Given the description of an element on the screen output the (x, y) to click on. 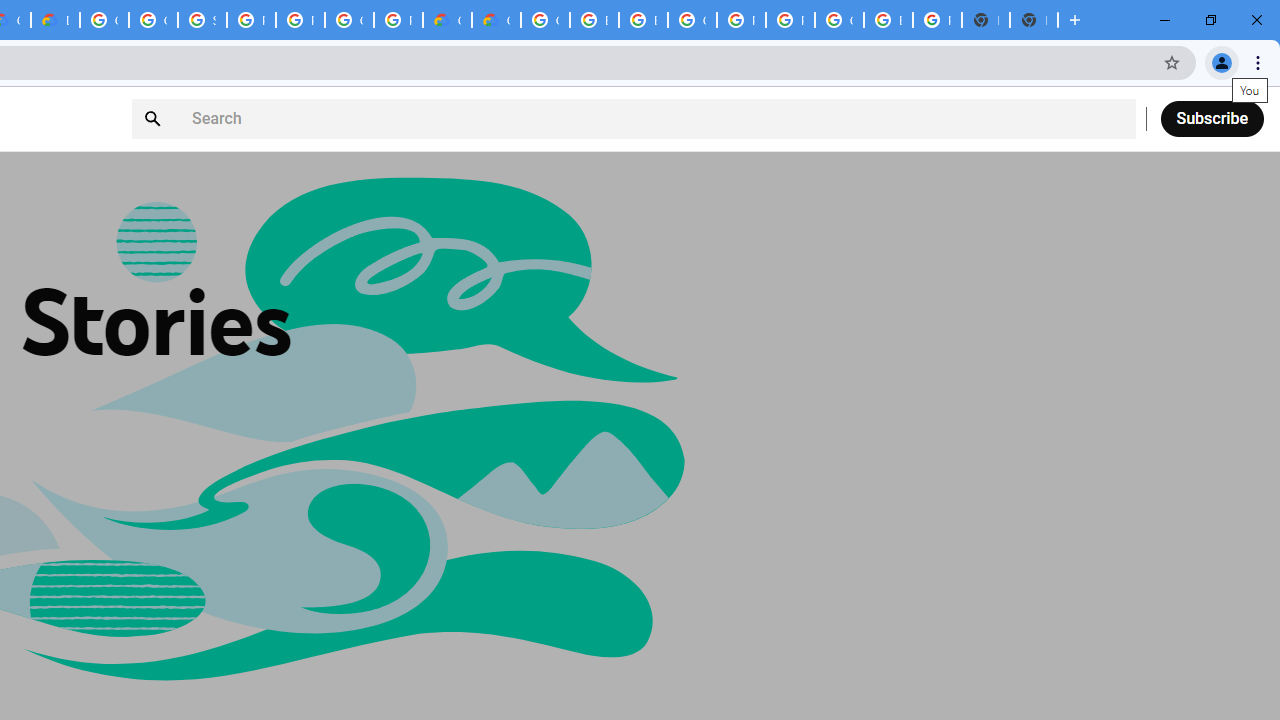
Google Cloud Platform (839, 20)
Google Cloud Platform (349, 20)
Customer Care | Google Cloud (447, 20)
New Tab (1033, 20)
Google Cloud Platform (104, 20)
Google Cloud Estimate Summary (496, 20)
Google Cloud Platform (545, 20)
Sign in - Google Accounts (201, 20)
